Given the description of an element on the screen output the (x, y) to click on. 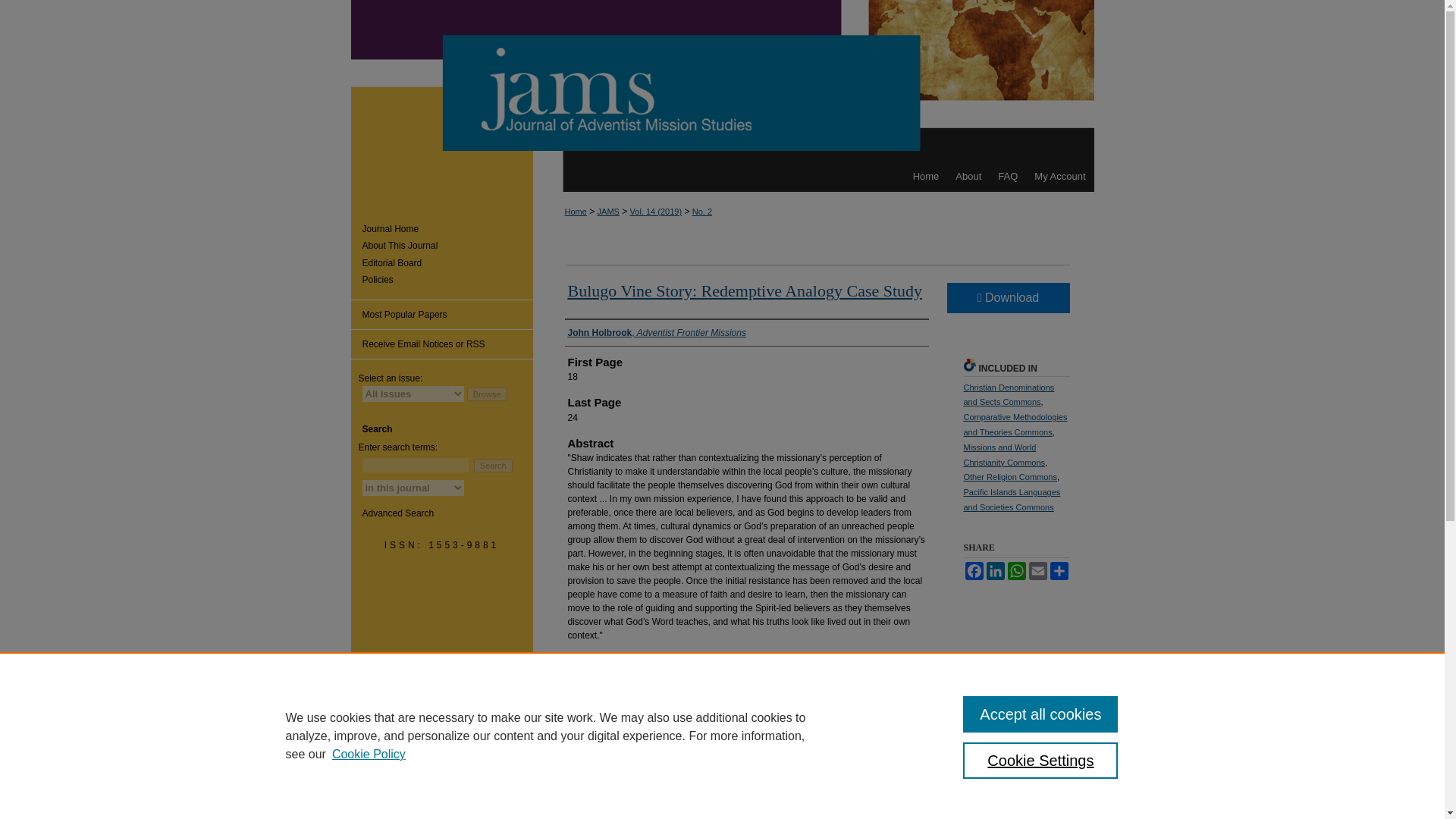
Browse (486, 394)
Download (1007, 297)
WhatsApp (1016, 570)
Journal Home (447, 228)
Home (925, 176)
Other Religion Commons (1009, 476)
No. 2 (702, 211)
Search (493, 465)
Other Religion Commons (1009, 476)
Christian Denominations and Sects Commons (1008, 395)
Policies (447, 279)
Missions and World Christianity Commons (1003, 454)
About (968, 176)
Missions and World Christianity Commons (1003, 454)
Christian Denominations and Sects Commons (1008, 395)
